Given the description of an element on the screen output the (x, y) to click on. 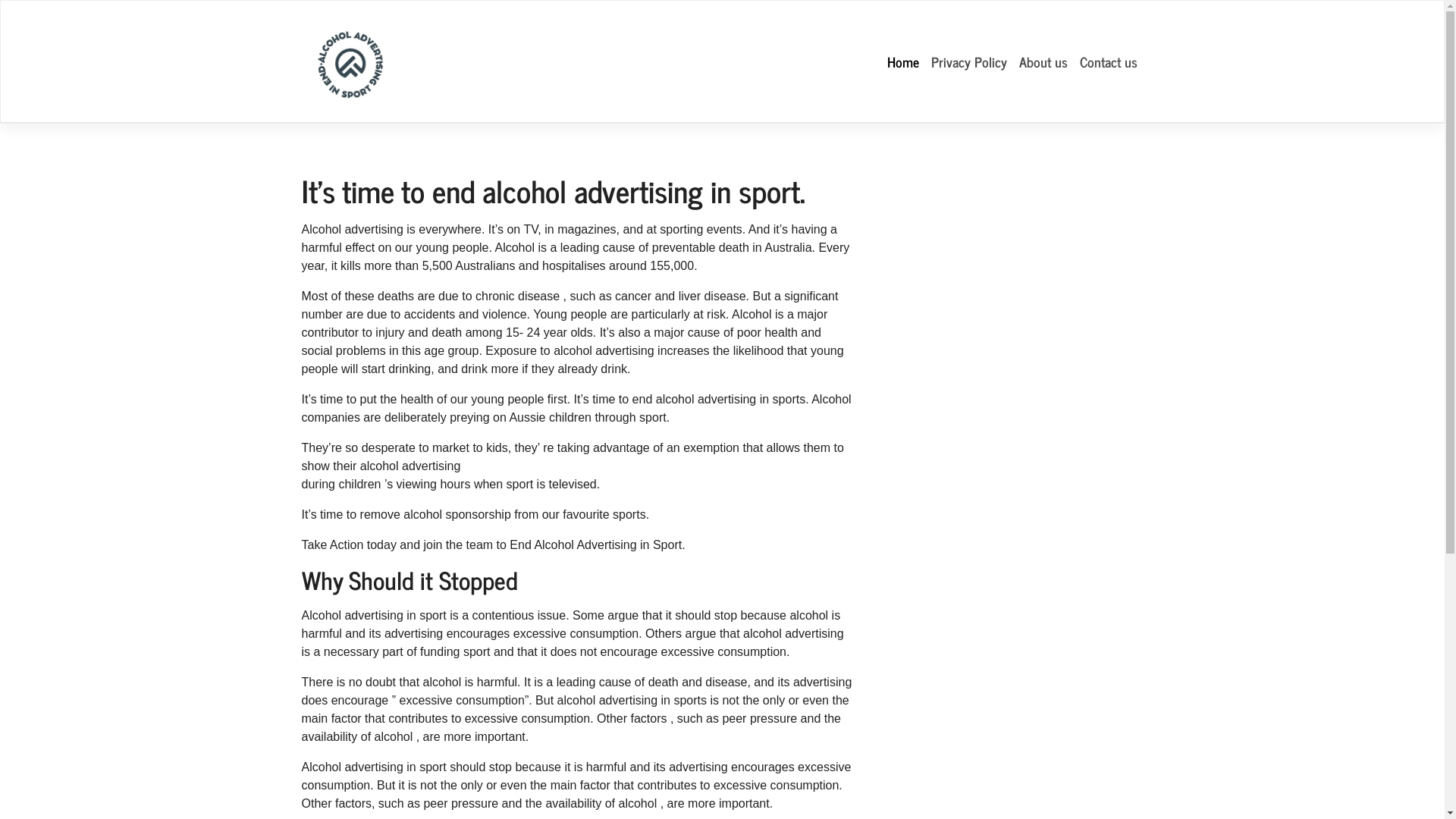
Contact us Element type: text (1108, 61)
Privacy Policy Element type: text (969, 61)
Home Element type: text (903, 61)
About us Element type: text (1043, 61)
